Given the description of an element on the screen output the (x, y) to click on. 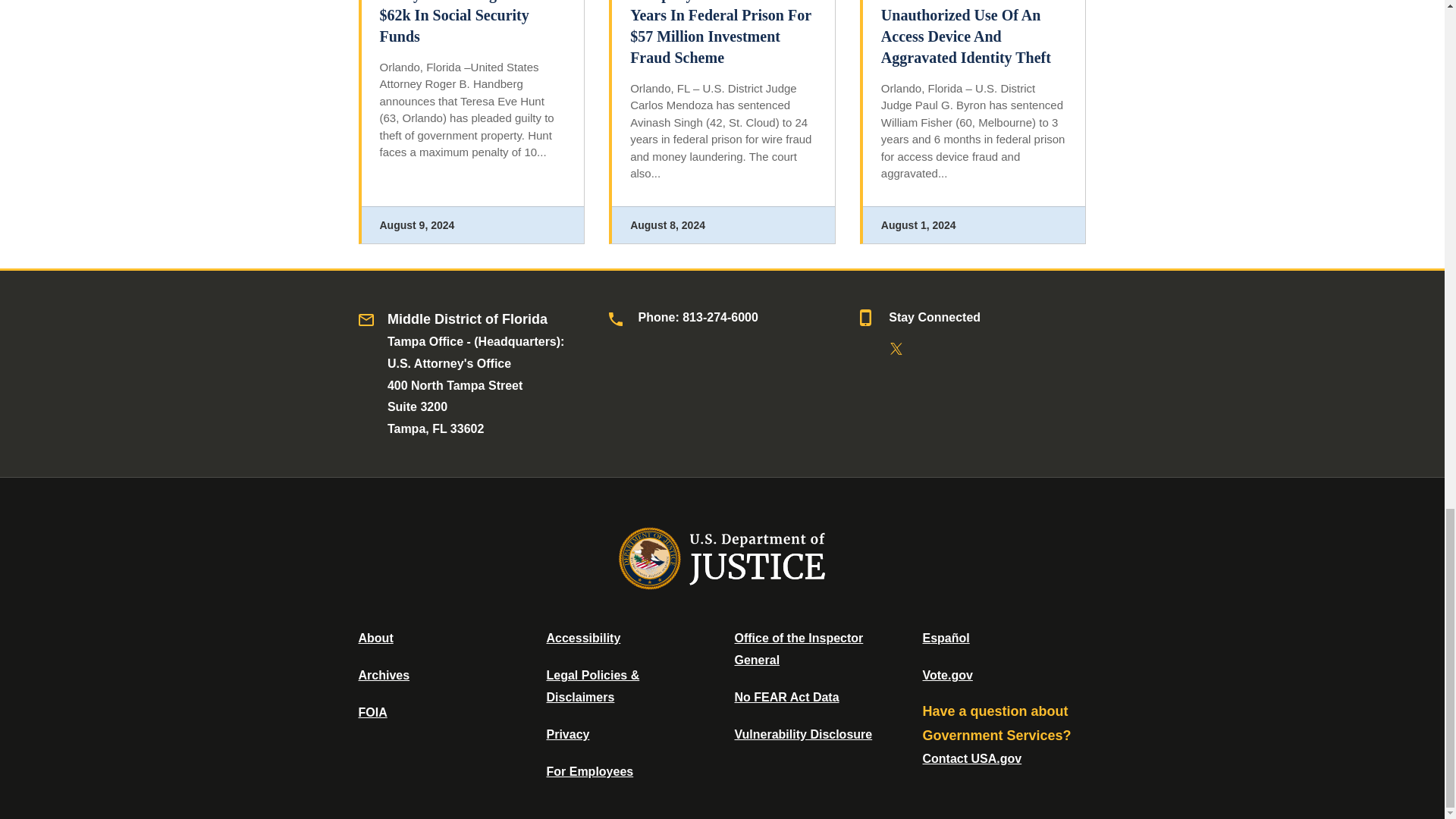
Accessibility Statement (583, 637)
About DOJ (375, 637)
For Employees (589, 771)
Office of Information Policy (372, 712)
Data Posted Pursuant To The No Fear Act (785, 697)
Legal Policies and Disclaimers (592, 686)
Department of Justice Archive (383, 675)
